Given the description of an element on the screen output the (x, y) to click on. 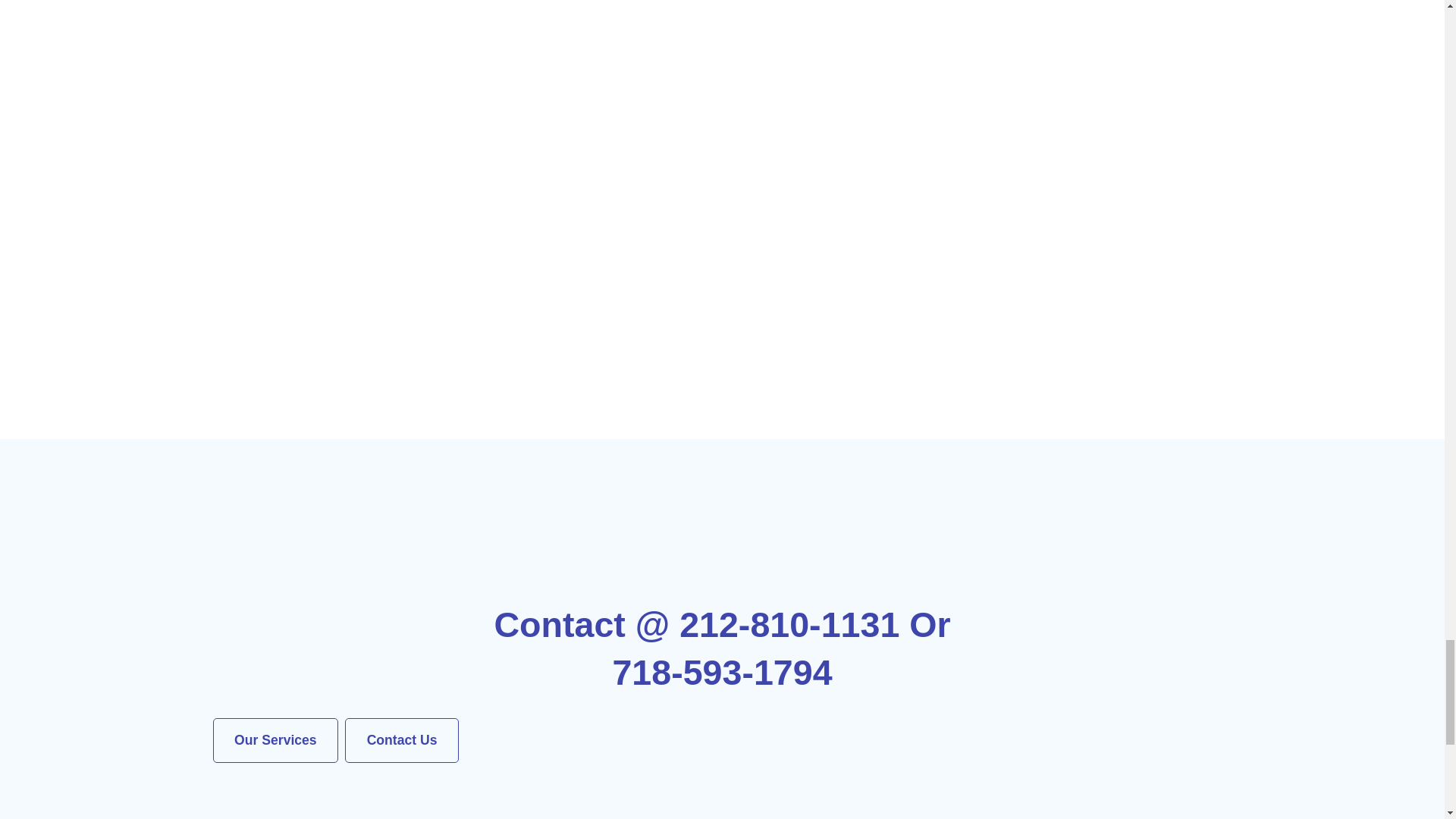
Our Services (274, 740)
Contact Us (401, 740)
